Given the description of an element on the screen output the (x, y) to click on. 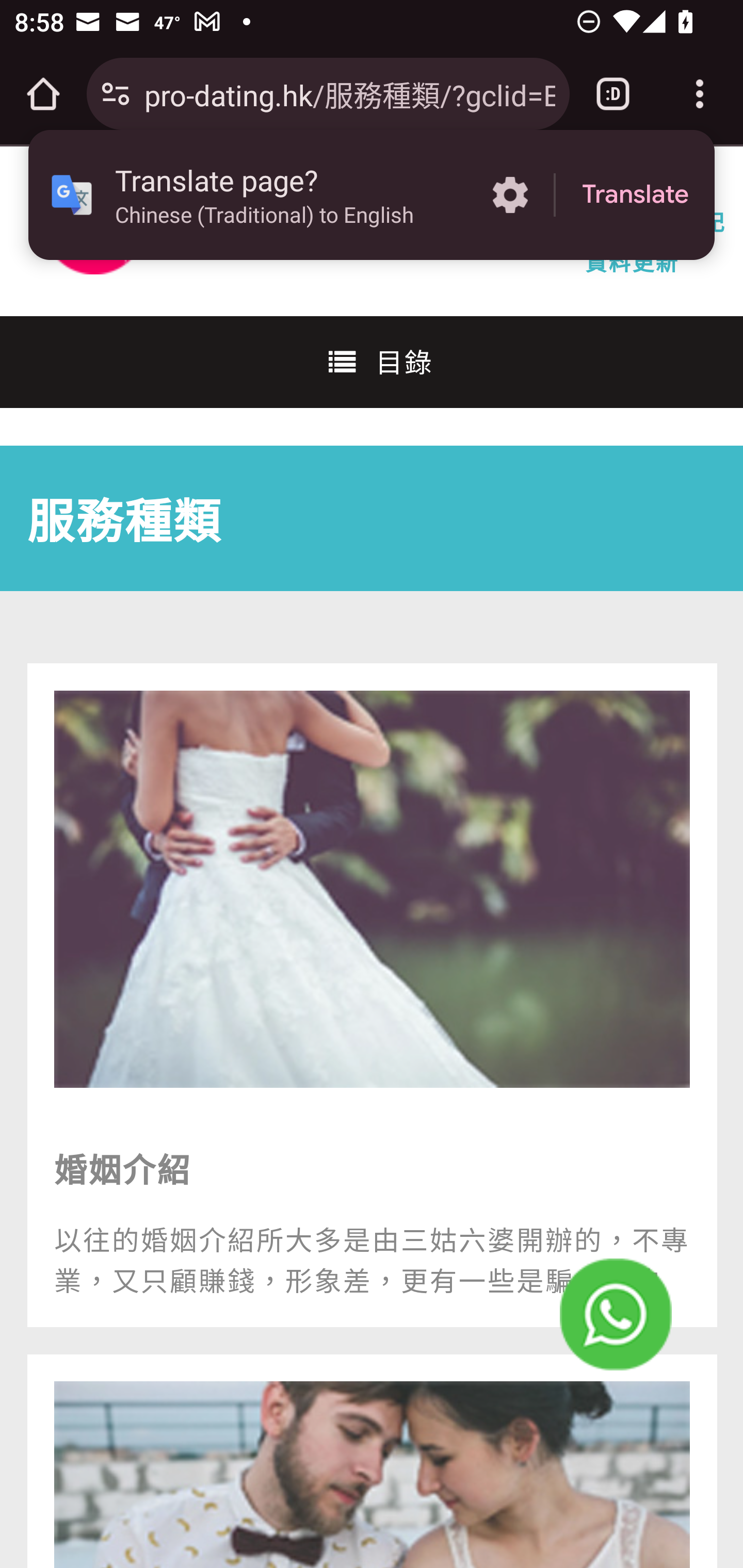
Open the home page (43, 93)
Connection is secure (115, 93)
Switch or close tabs (612, 93)
Customize and control Google Chrome (699, 93)
Translate (634, 195)
More options in the Translate page? (509, 195)
 目錄  目錄 (371, 360)
sidewhatsapp (616, 1314)
